Given the description of an element on the screen output the (x, y) to click on. 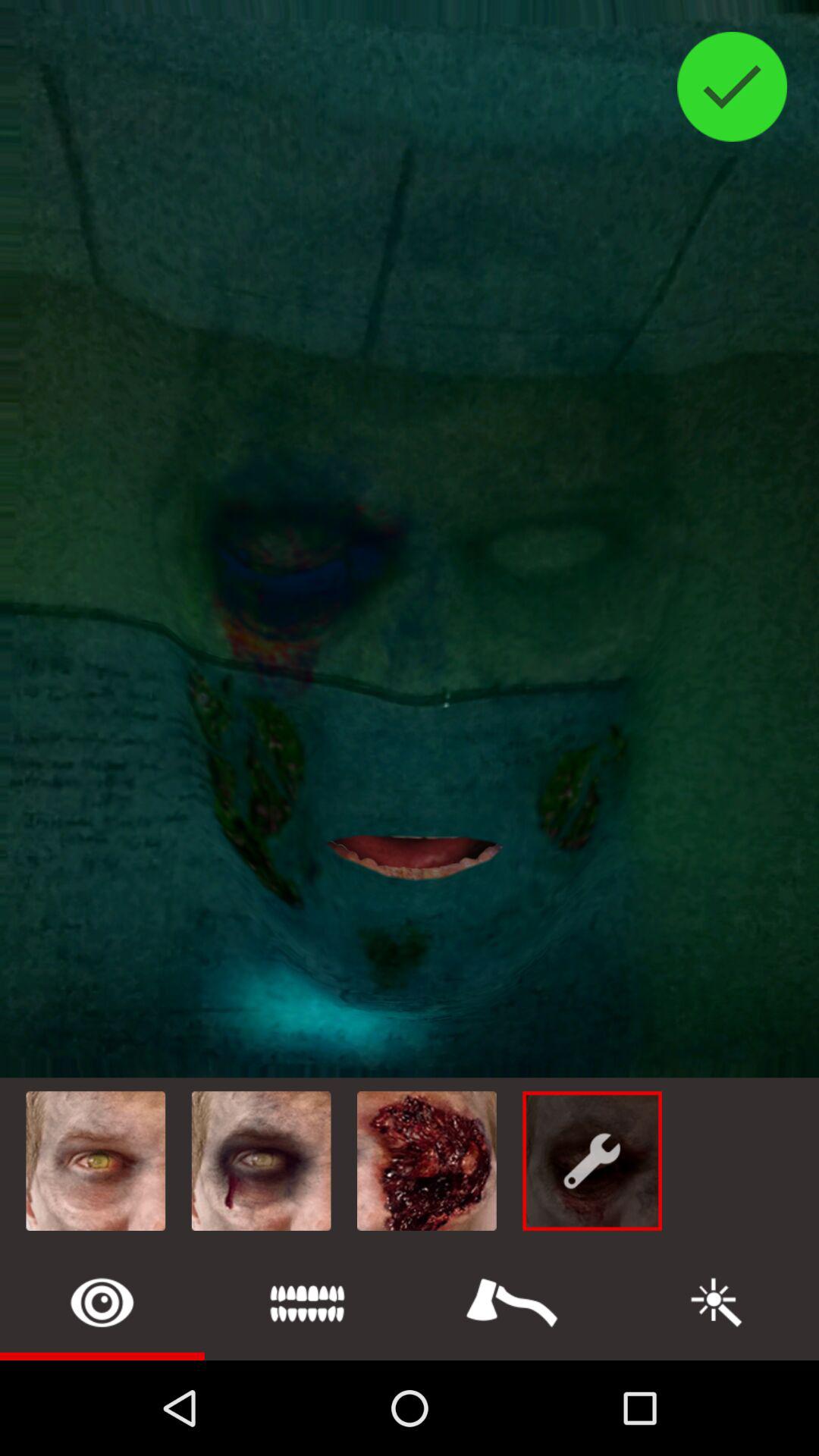
press the item at the top right corner (732, 86)
